Given the description of an element on the screen output the (x, y) to click on. 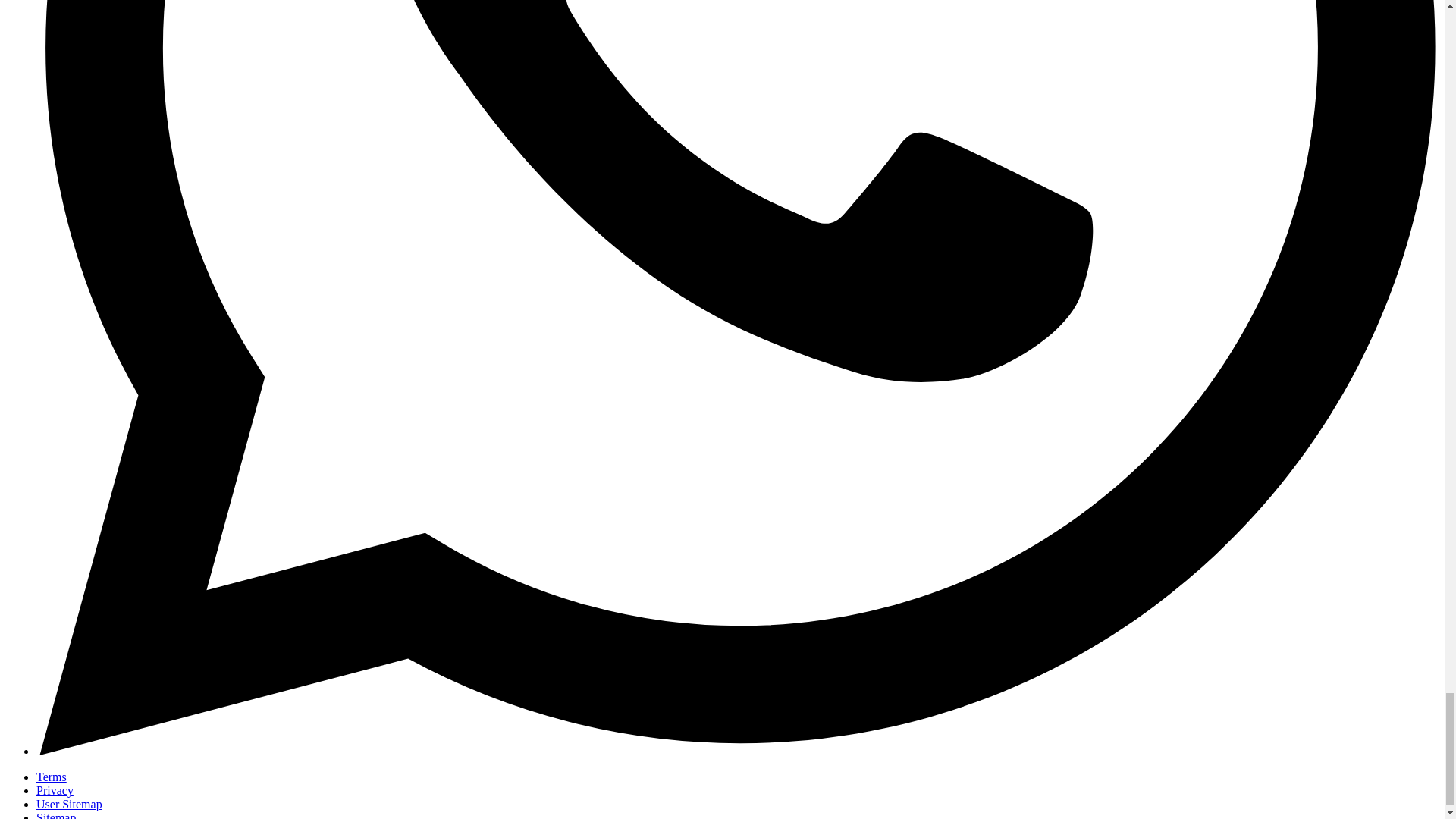
Privacy (55, 789)
User Sitemap (68, 803)
Privacy (55, 789)
Terms (51, 776)
Terms (51, 776)
User Sitemap (68, 803)
